Given the description of an element on the screen output the (x, y) to click on. 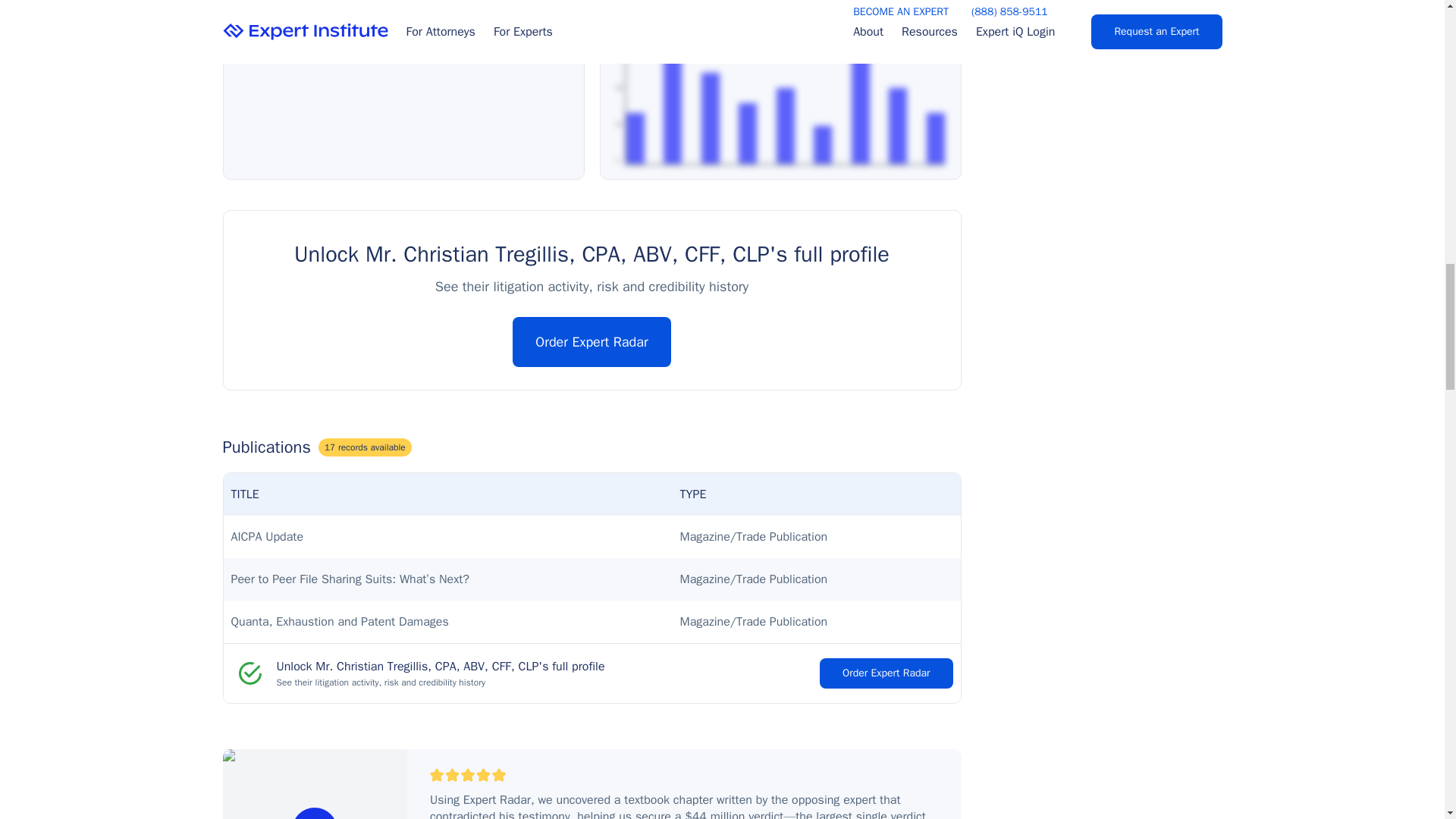
Order Expert Radar (885, 673)
Order Expert Radar (590, 341)
